Given the description of an element on the screen output the (x, y) to click on. 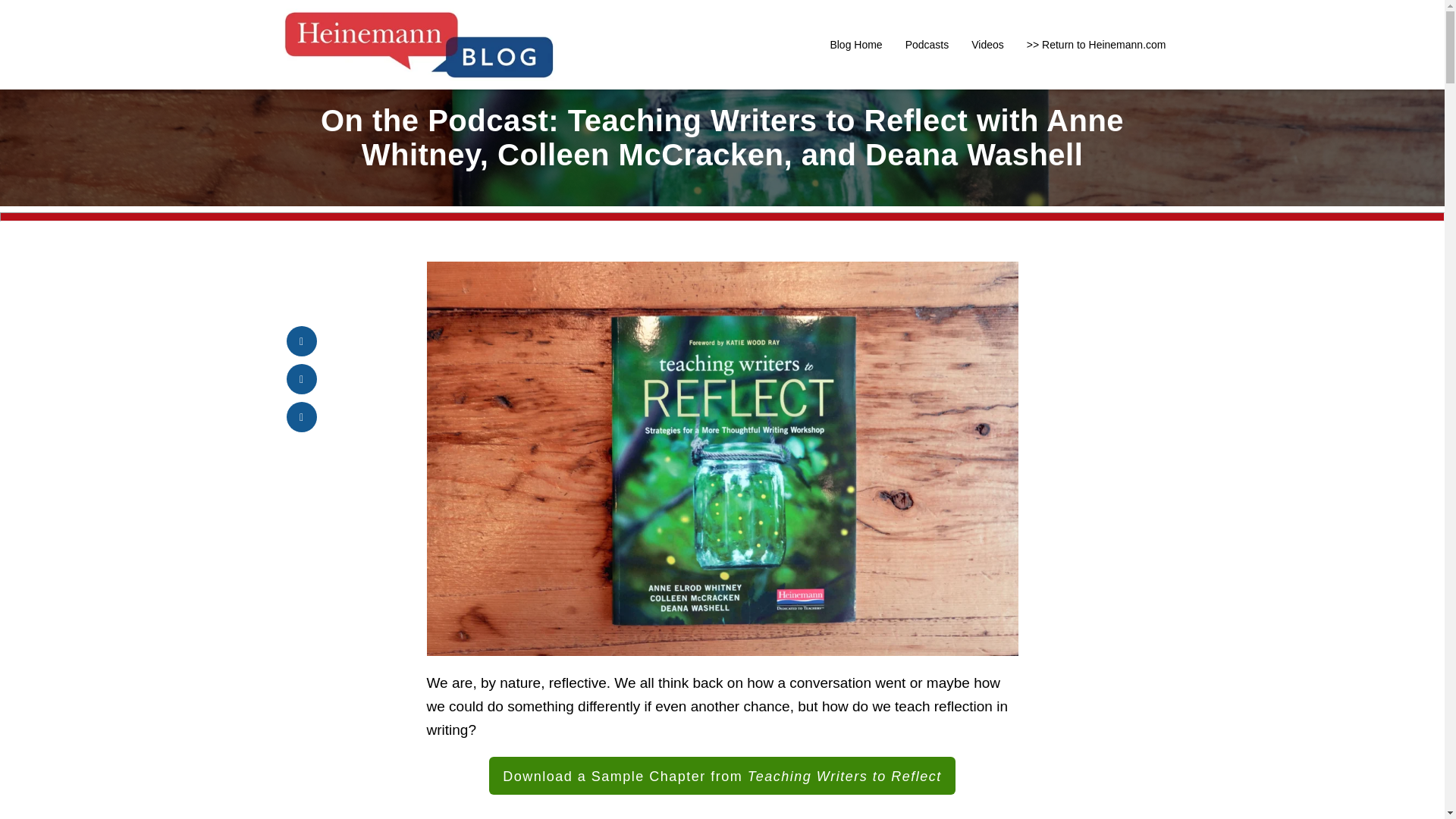
Podcasts (926, 44)
Download a Sample Chapter from Teaching Writers to Reflect (722, 775)
Videos (986, 44)
new-logo-horiz.jpg (419, 44)
Blog Home (855, 44)
